Given the description of an element on the screen output the (x, y) to click on. 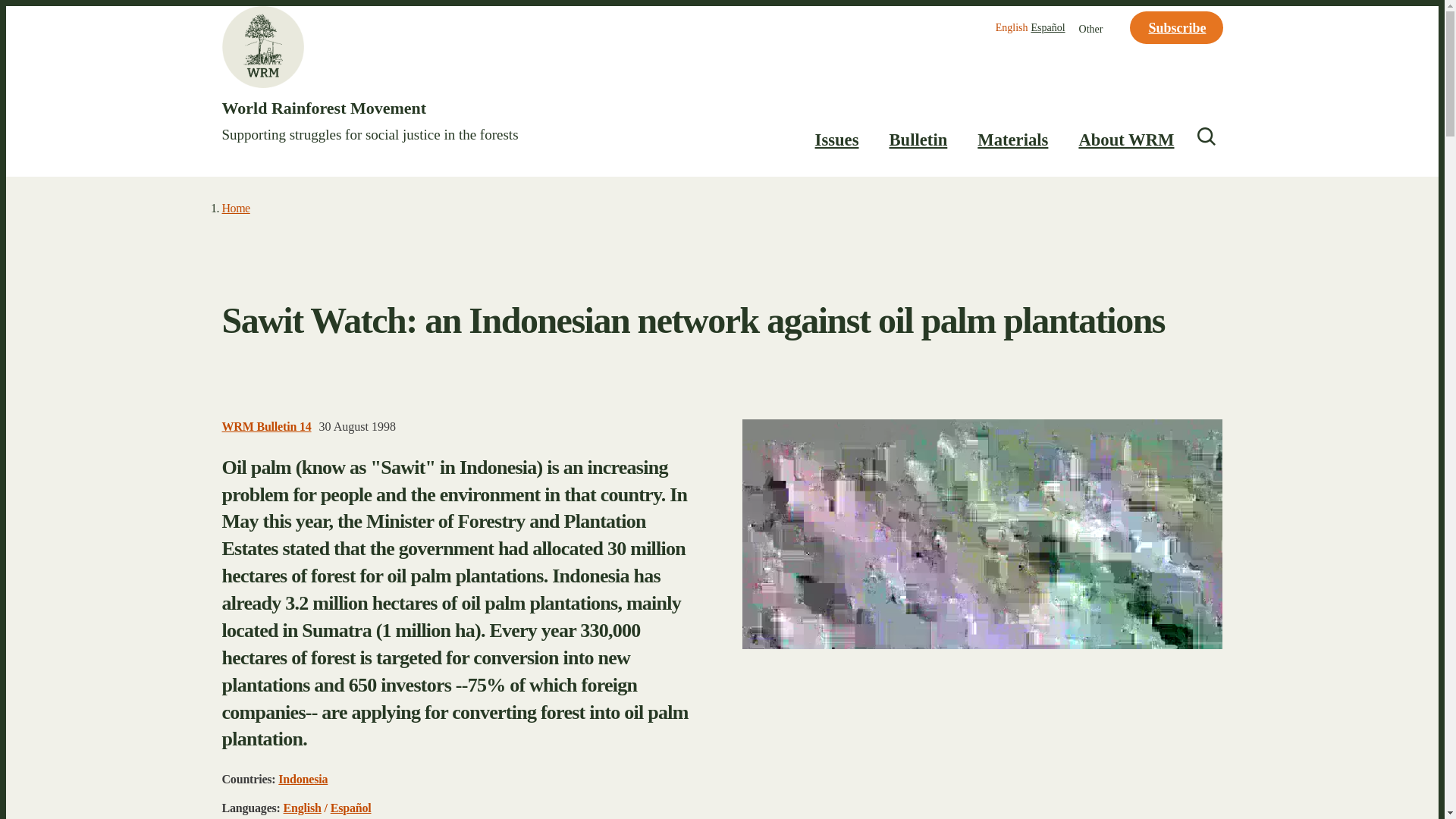
Issues (836, 140)
Home (414, 85)
English (1011, 27)
Subscribe (1176, 27)
Skip to main content (722, 7)
